Given the description of an element on the screen output the (x, y) to click on. 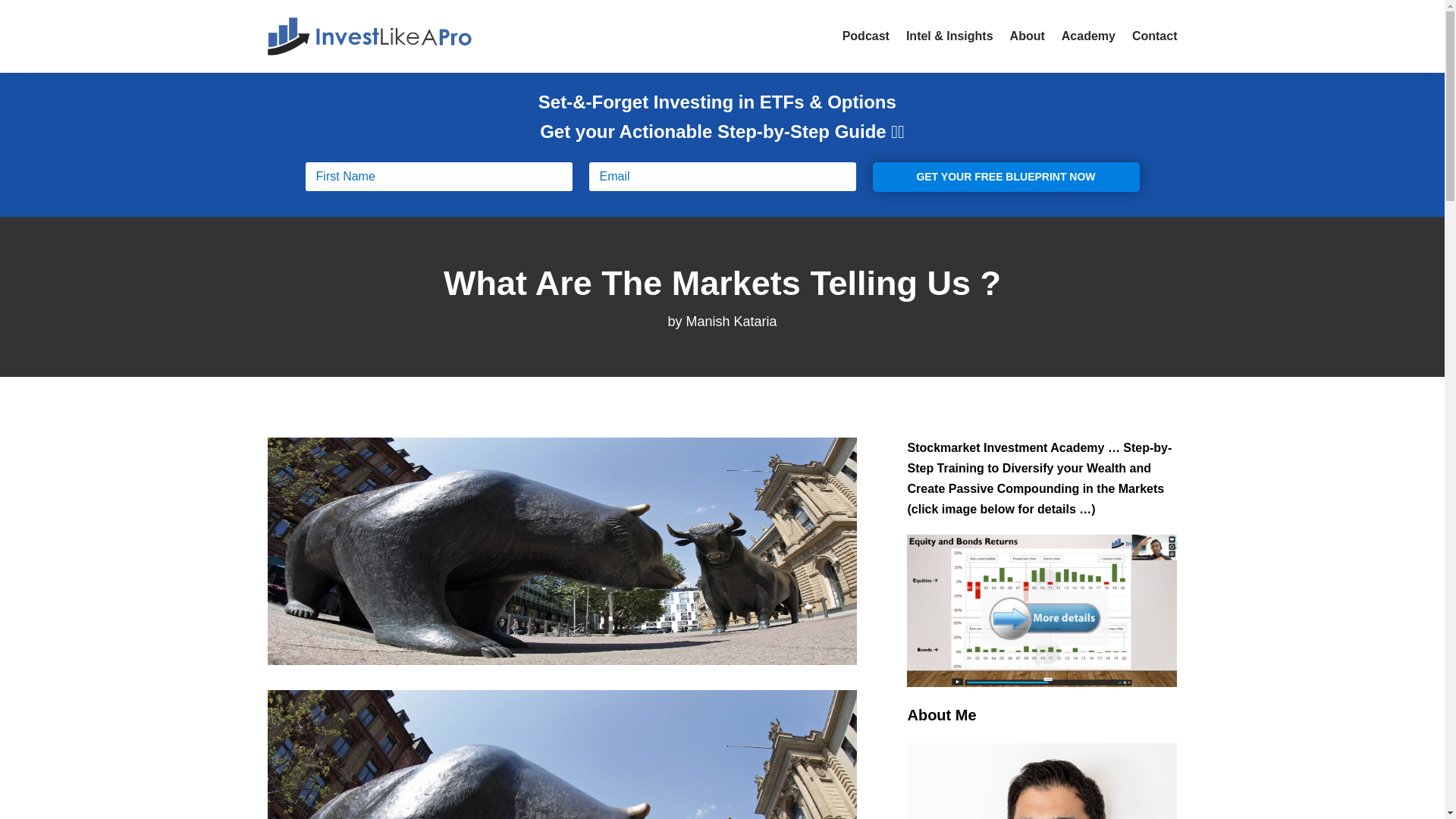
Academy (1088, 36)
Manish Kataria (730, 321)
GET YOUR FREE BLUEPRINT NOW (1005, 177)
Posts by Manish Kataria (730, 321)
Manish K Portraits 01-07-17 OR2-2 (1041, 780)
